Given the description of an element on the screen output the (x, y) to click on. 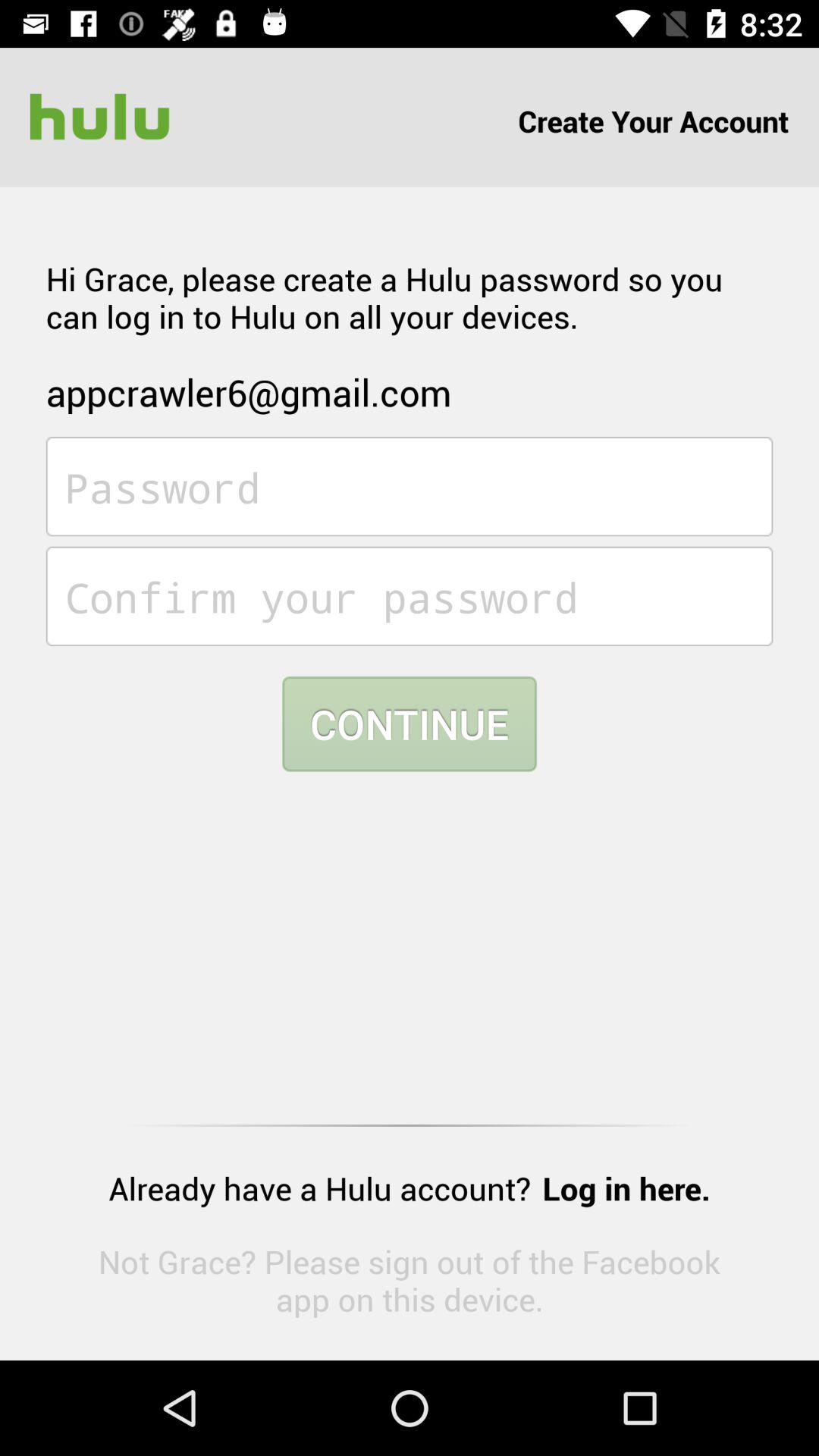
jump until the not grace please icon (409, 1279)
